Given the description of an element on the screen output the (x, y) to click on. 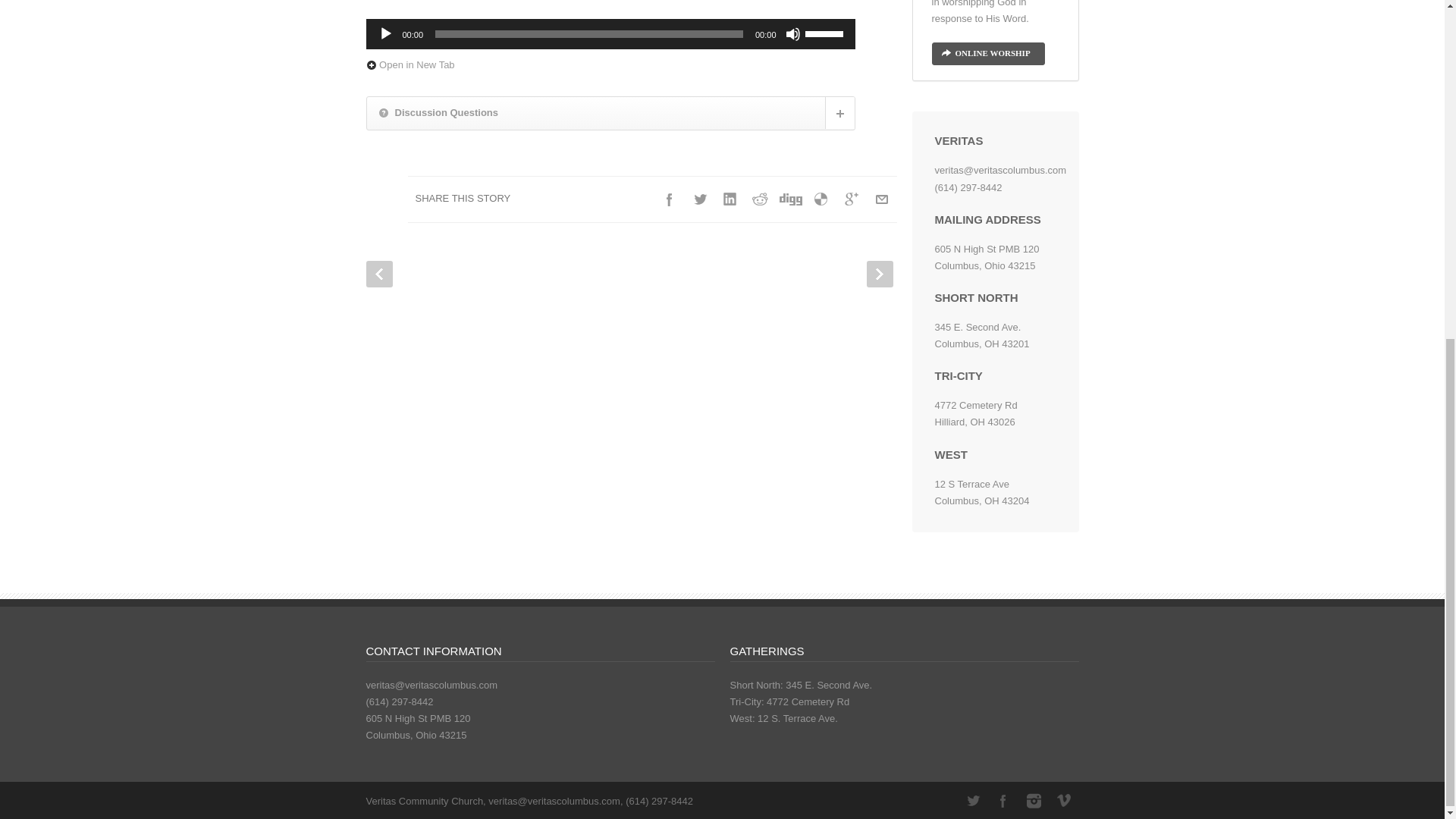
Mute (793, 33)
Play (385, 33)
